Given the description of an element on the screen output the (x, y) to click on. 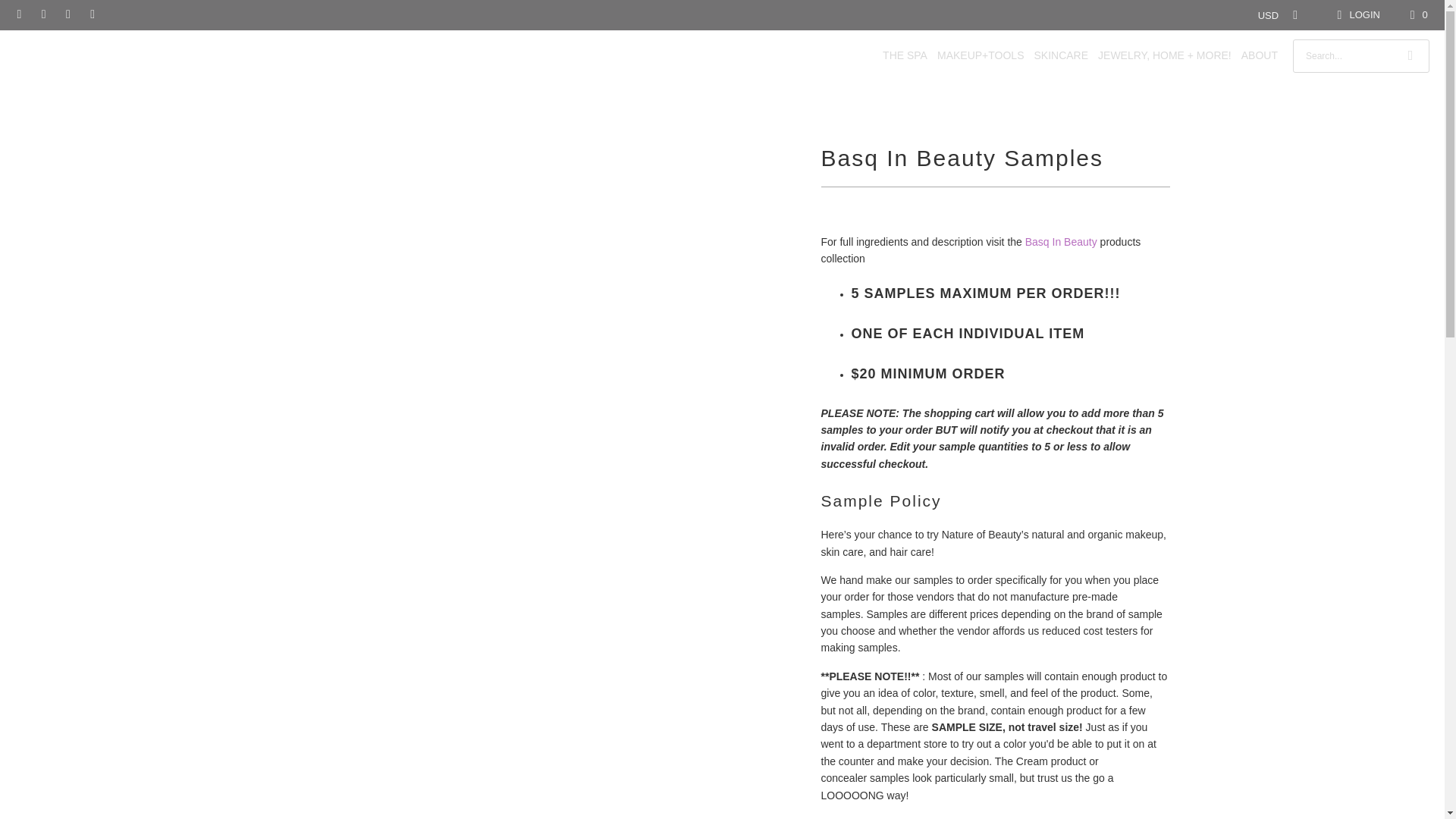
USD (1273, 15)
Email The Nature of Beauty (17, 14)
The Nature of Beauty on Instagram (67, 14)
The Nature of Beauty on Facebook (41, 14)
LOGIN (1356, 14)
Basq In Beauty Collection (1061, 241)
The Nature of Beauty on Pinterest (91, 14)
My Account  (1356, 14)
